Given the description of an element on the screen output the (x, y) to click on. 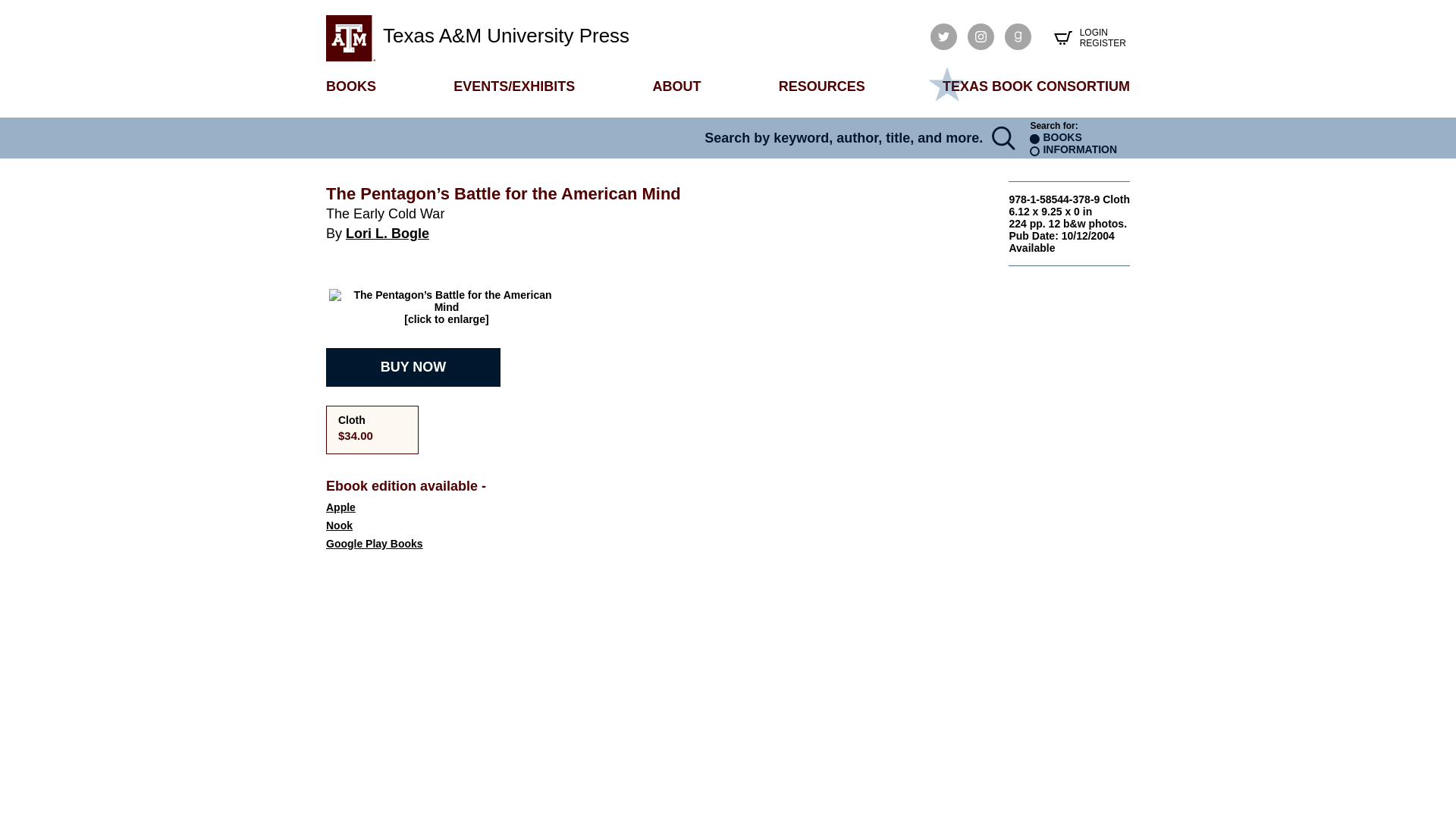
TEXAS BOOK CONSORTIUM (1035, 86)
Open Good Reads Link in a new tab (1017, 36)
Lori L. Bogle (387, 233)
ABOUT (676, 86)
RESOURCES (821, 86)
Nook (413, 525)
BUY NOW (413, 367)
Your Account (1102, 32)
LOGIN (1102, 32)
Apple (413, 507)
